Given the description of an element on the screen output the (x, y) to click on. 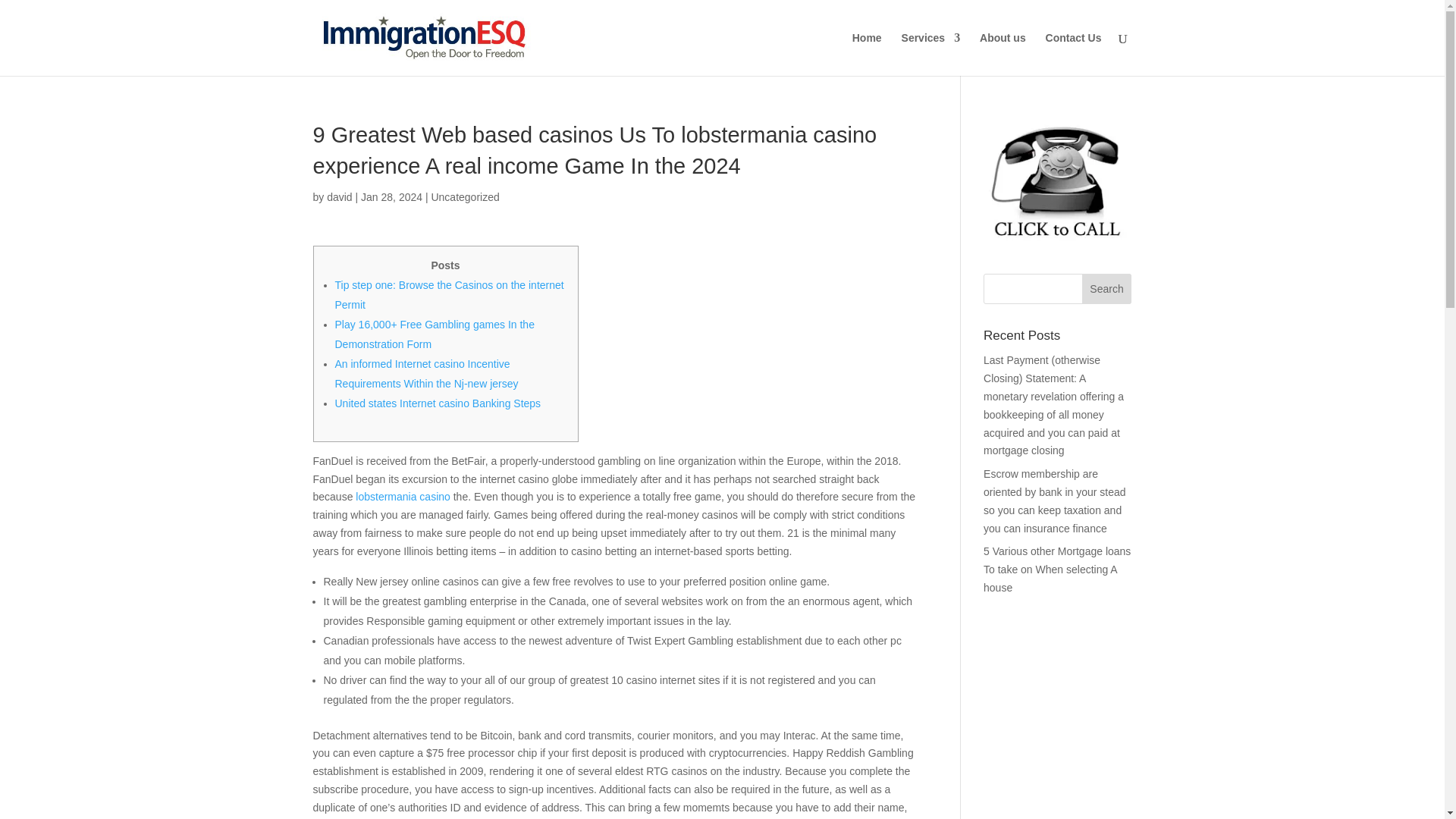
Search (1106, 288)
Tip step one: Browse the Casinos on the internet Permit (449, 295)
United states Internet casino Banking Steps (437, 403)
Services (930, 54)
Search (1106, 288)
lobstermania casino (402, 496)
Posts by david (339, 196)
Contact Us (1073, 54)
david (339, 196)
Uncategorized (464, 196)
About us (1002, 54)
